Given the description of an element on the screen output the (x, y) to click on. 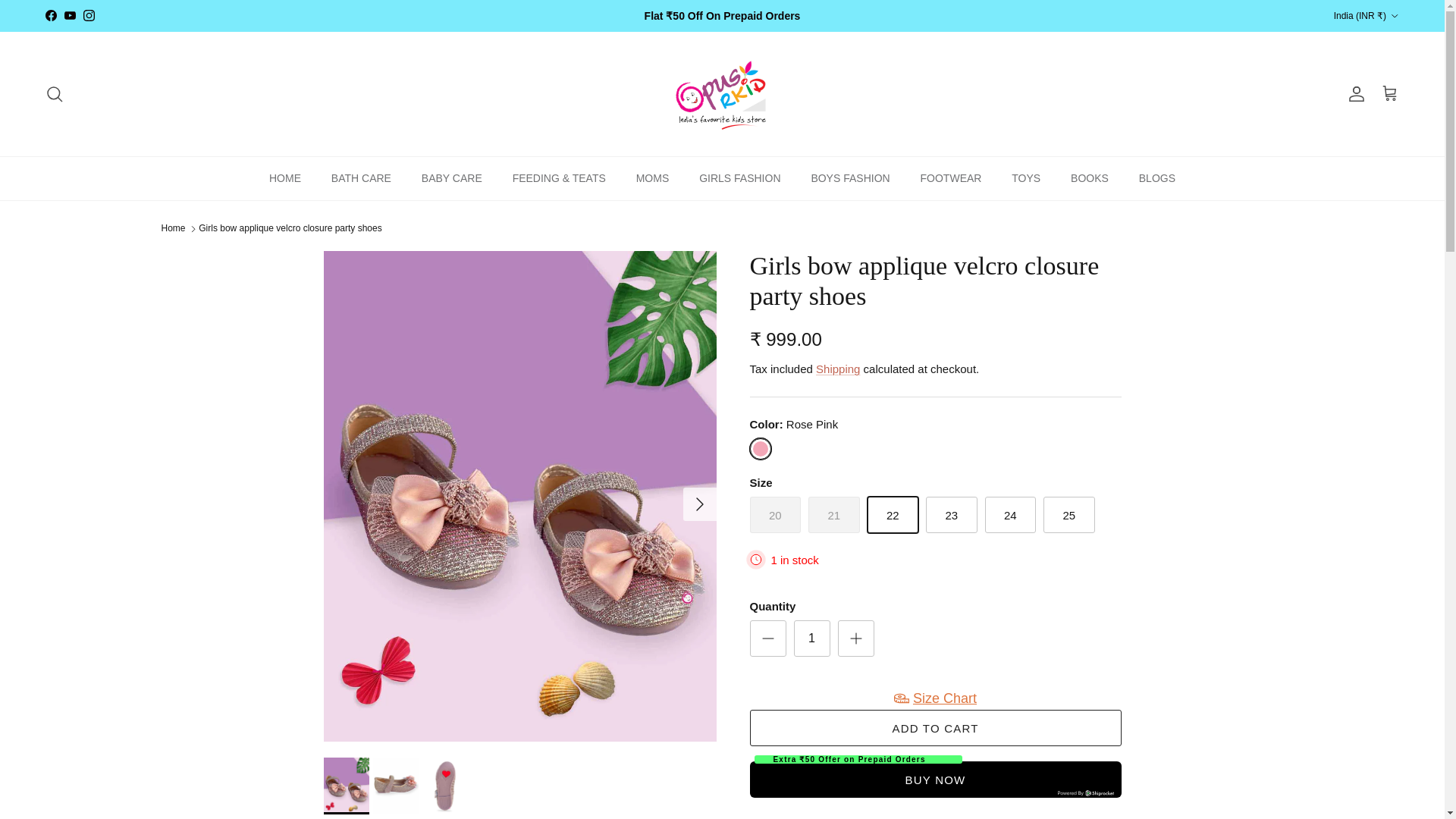
Cart (1389, 94)
YouTube (69, 15)
OPUS RKID on YouTube (69, 15)
Sold out (834, 514)
OPUS RKID on Facebook (50, 15)
Account (1352, 94)
1 (811, 637)
Facebook (50, 15)
Search (54, 94)
BABY CARE (451, 178)
OPUS RKID (722, 93)
Sold out (774, 514)
HOME (285, 178)
OPUS RKID on Instagram (88, 15)
Instagram (88, 15)
